Given the description of an element on the screen output the (x, y) to click on. 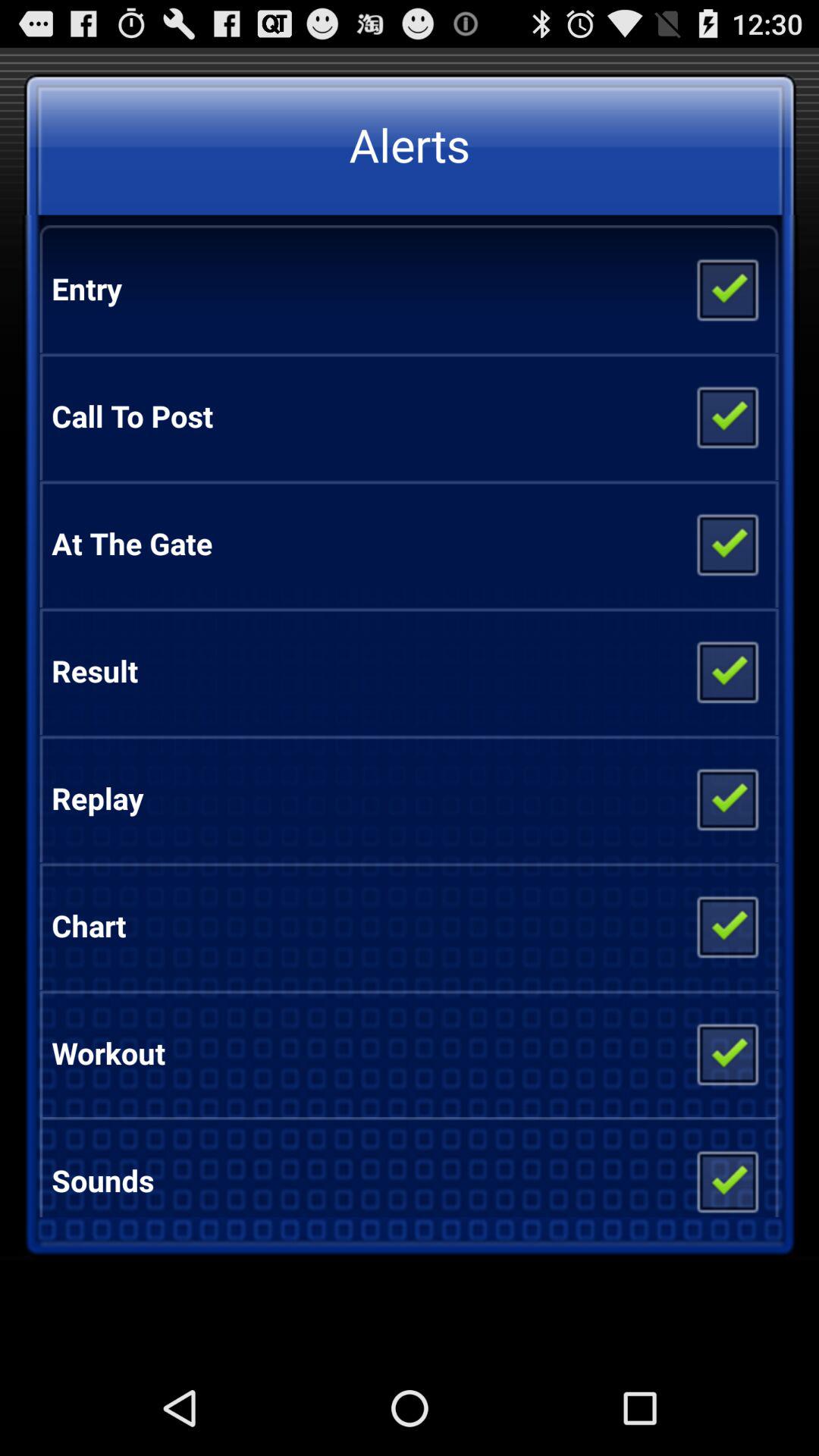
choose the item to the right of the entry item (726, 288)
